Given the description of an element on the screen output the (x, y) to click on. 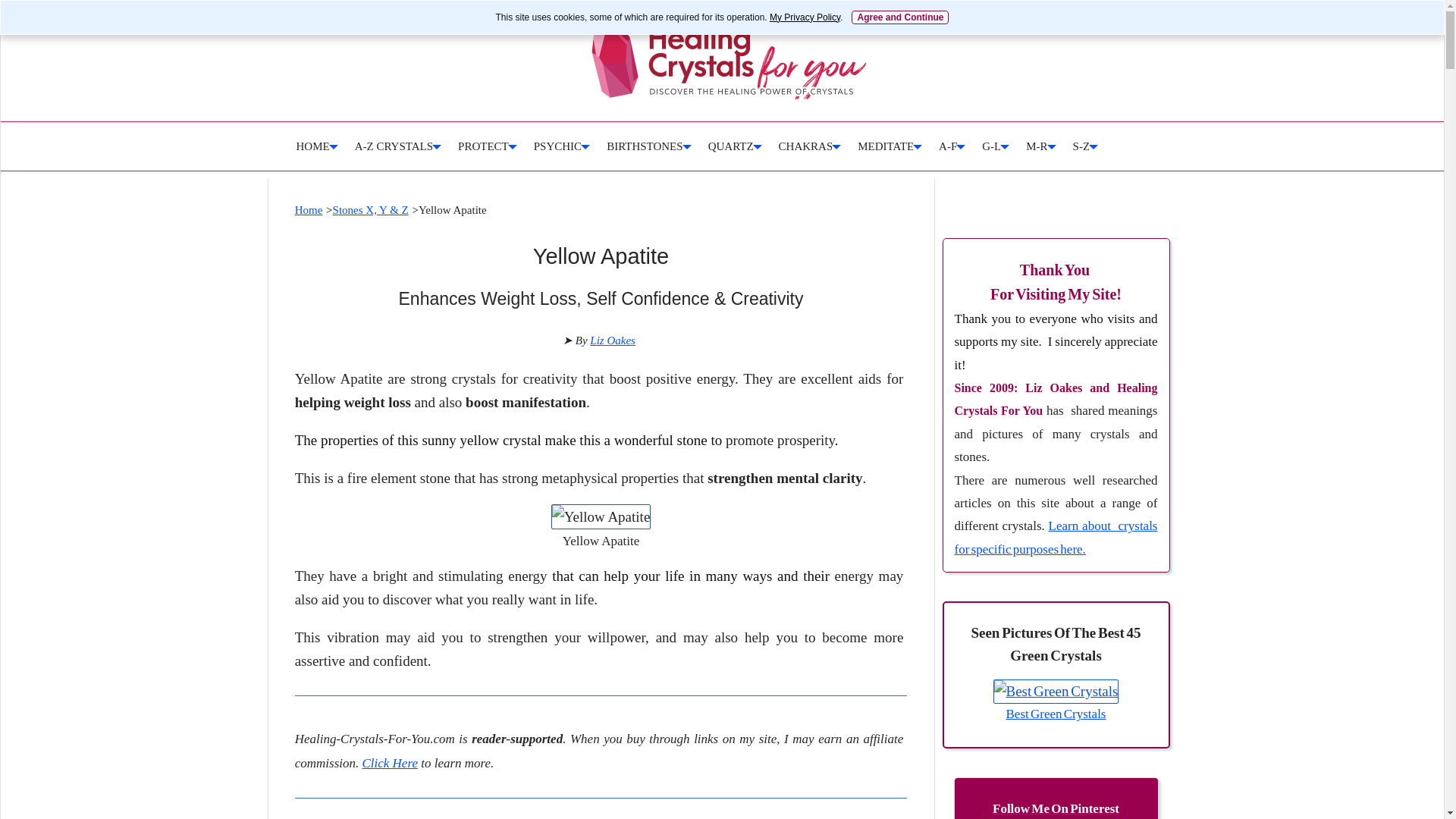
Yellow Apatite (600, 516)
HEALING CRYSTALS FOR YOU.COM (727, 60)
